Given the description of an element on the screen output the (x, y) to click on. 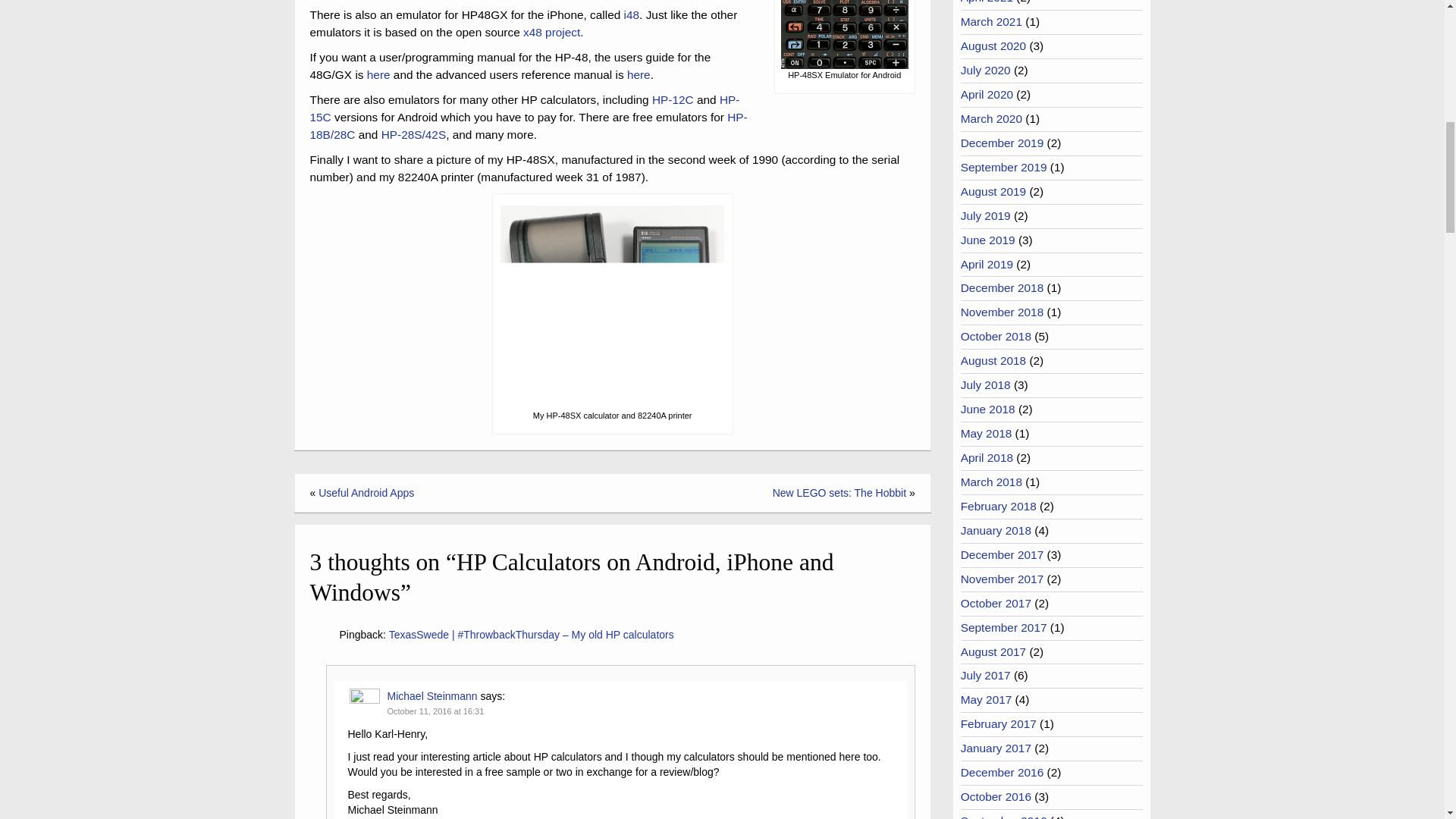
Useful Android Apps (365, 492)
HP-12C (673, 99)
x48 project (550, 31)
MyHP48SX (611, 307)
here (378, 74)
here (638, 74)
i48 (632, 14)
HP-15C (523, 108)
New LEGO sets: The Hobbit (839, 492)
